Given the description of an element on the screen output the (x, y) to click on. 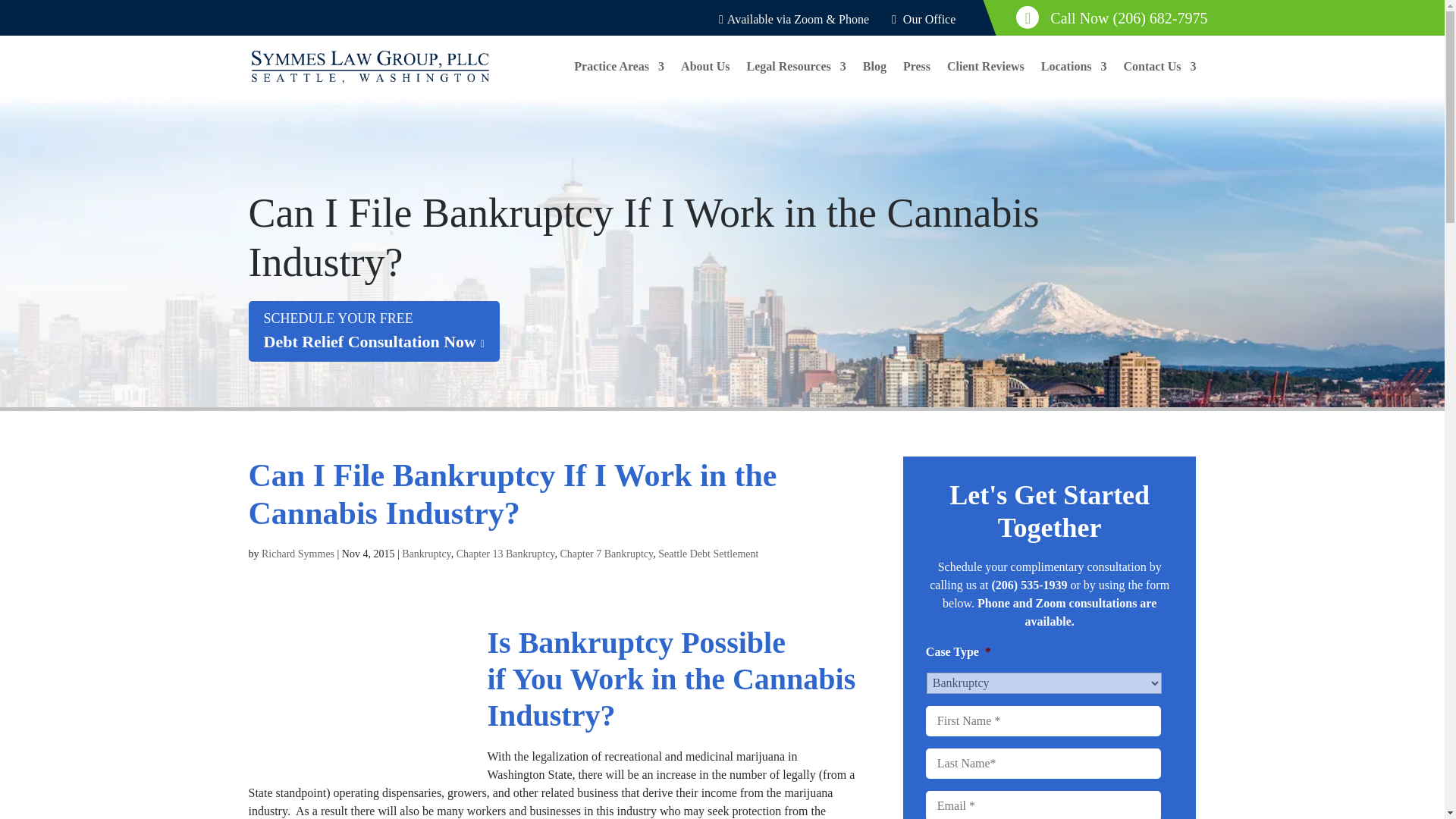
Legal Resources (795, 78)
Chapter 13 Bankruptcy (505, 553)
Seattle Debt Settlement (708, 553)
Contact Us (1160, 78)
Bankruptcy (425, 553)
Richard Symmes (298, 553)
Practice Areas (618, 78)
Locations (1073, 78)
Posts by Richard Symmes (373, 331)
